Given the description of an element on the screen output the (x, y) to click on. 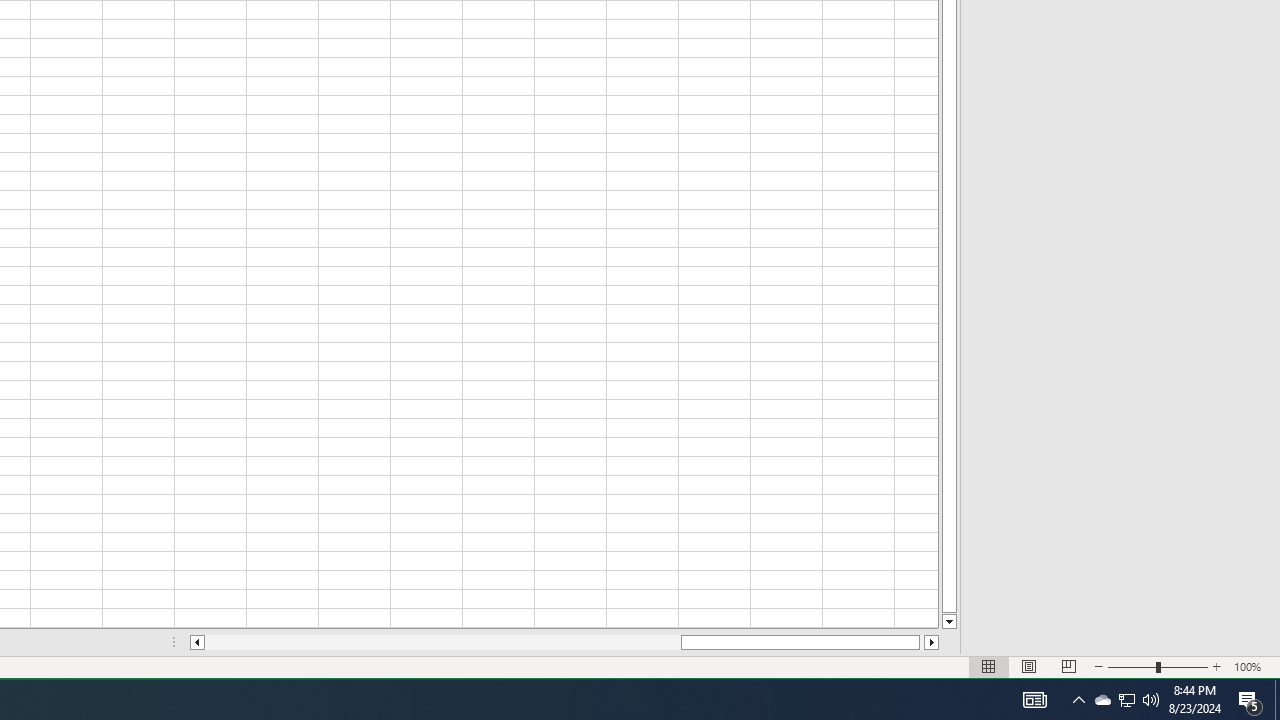
Action Center, 5 new notifications (1250, 699)
